Given the description of an element on the screen output the (x, y) to click on. 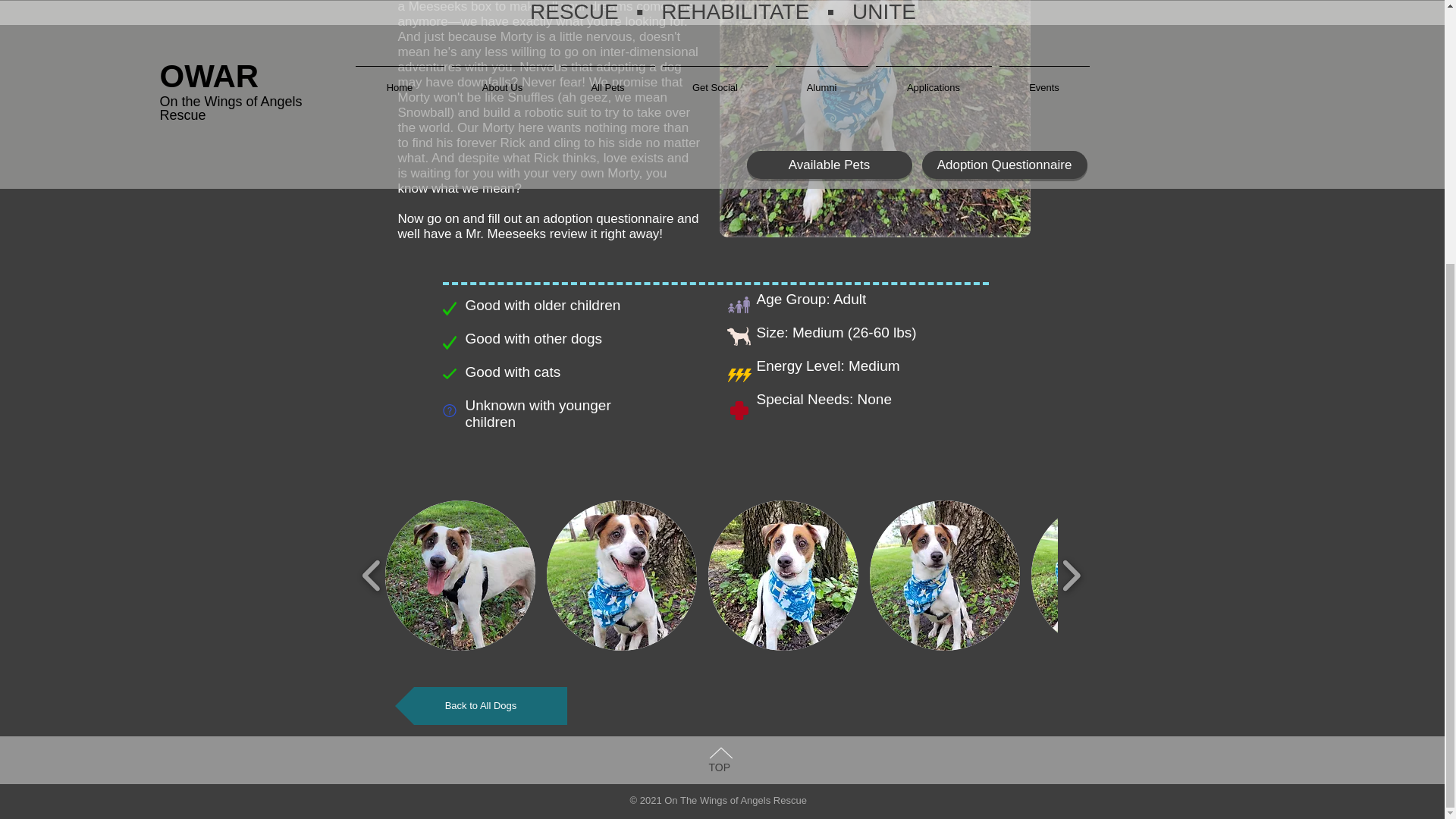
TOP (718, 767)
Back to All Dogs (480, 705)
